Given the description of an element on the screen output the (x, y) to click on. 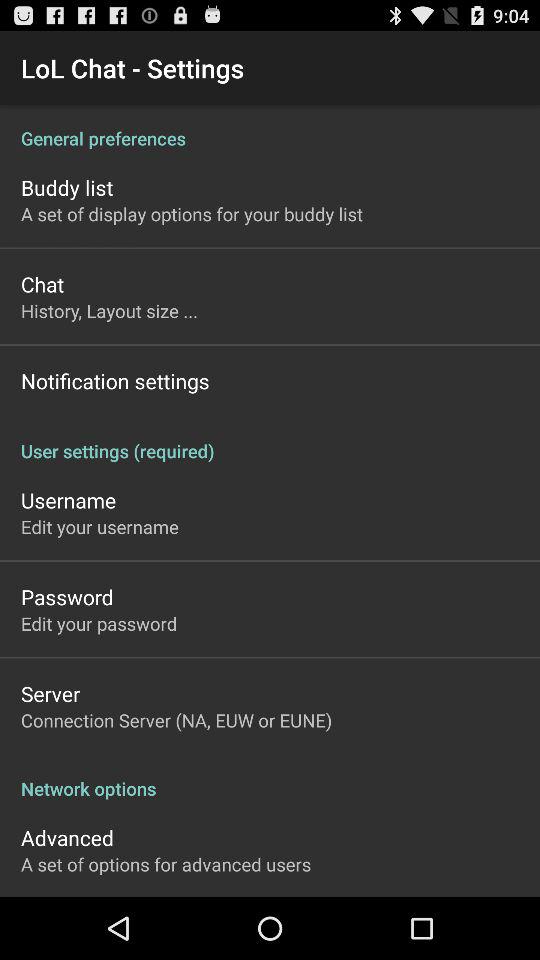
turn on the item below the connection server na icon (270, 778)
